Given the description of an element on the screen output the (x, y) to click on. 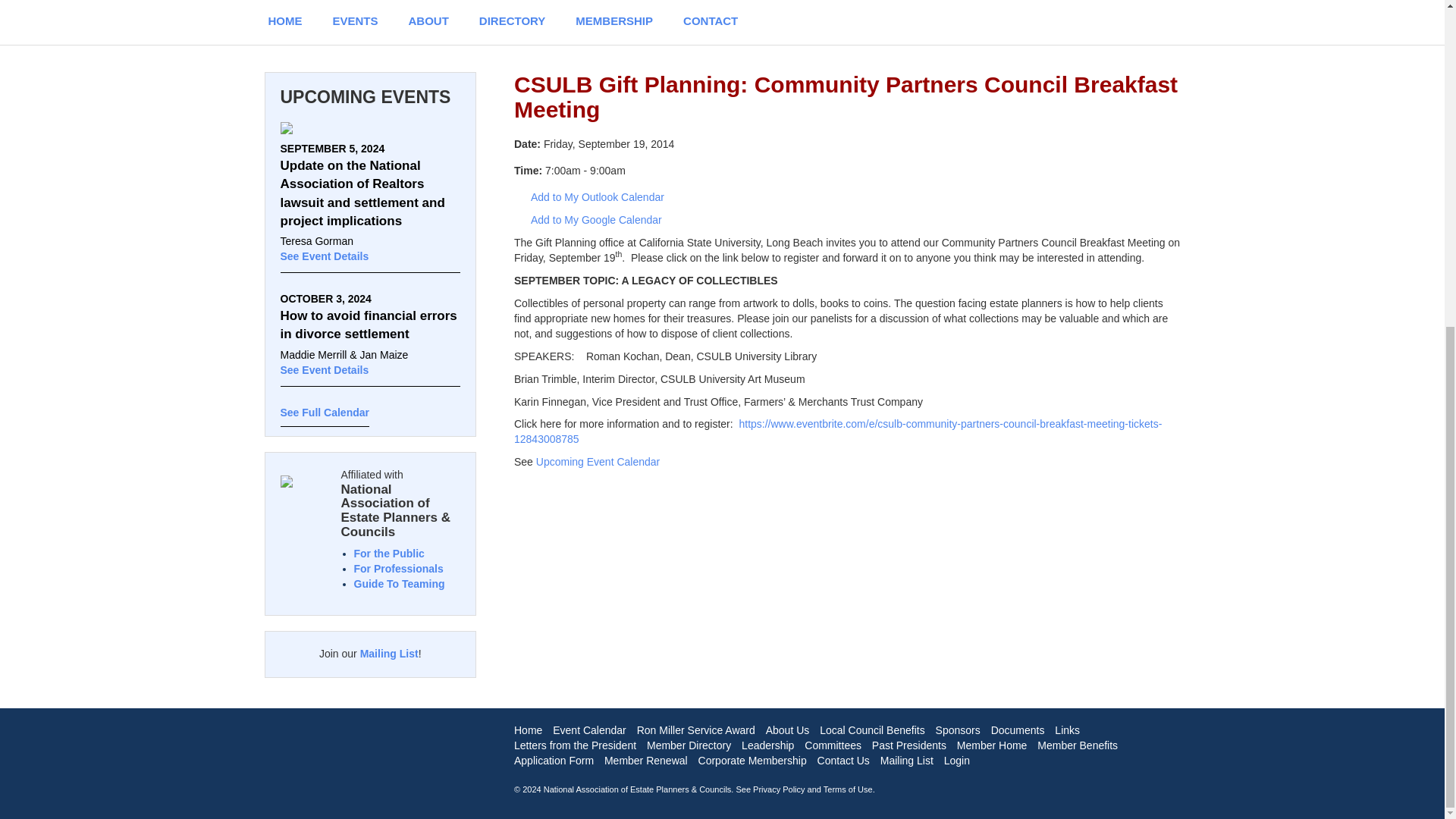
ABOUT (428, 22)
HOME (285, 22)
EVENTS (355, 22)
